Given the description of an element on the screen output the (x, y) to click on. 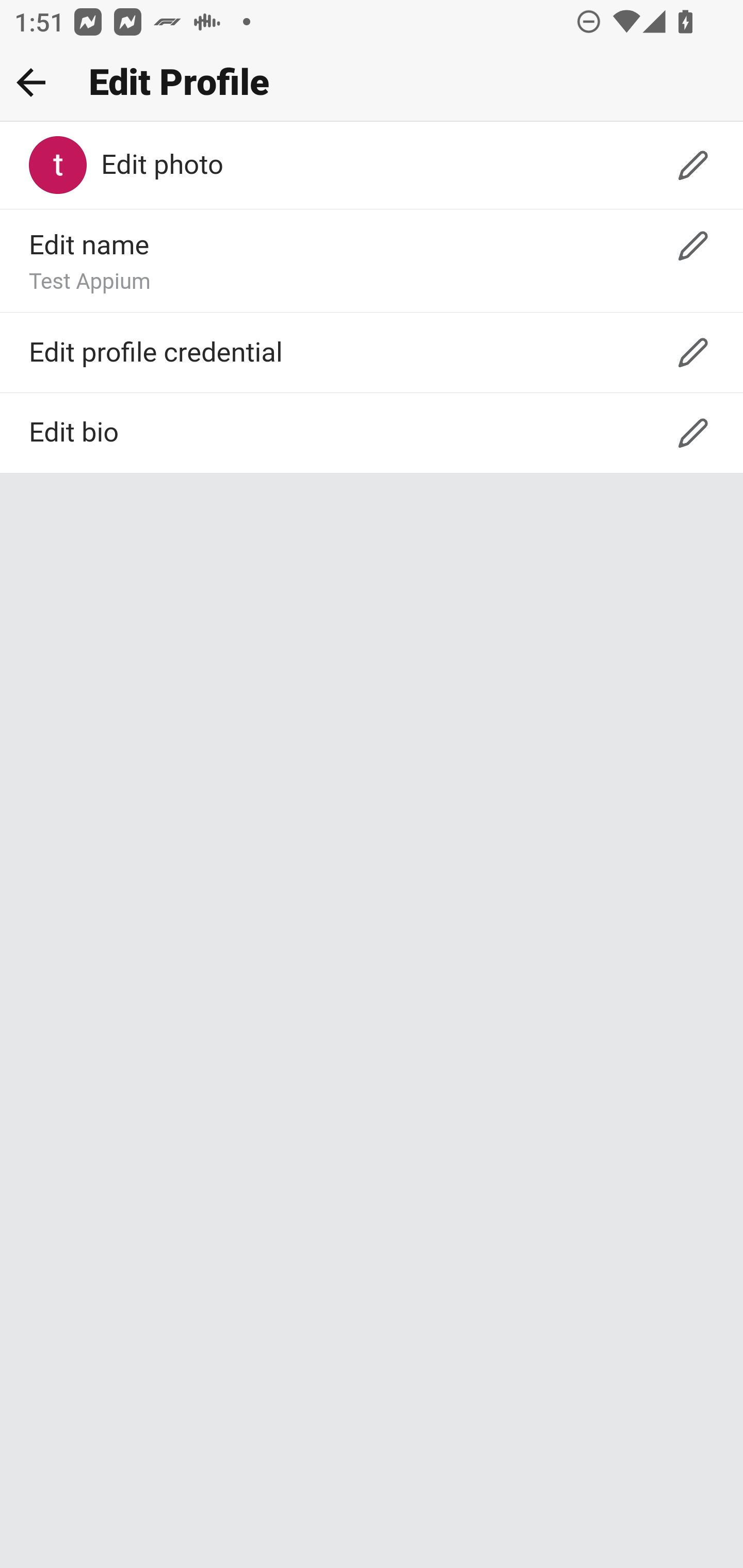
Back (30, 82)
Profile photo for Test Appium Edit photo (371, 166)
Edit name Test Appium (371, 261)
Edit profile credential (371, 351)
Edit bio (371, 432)
